Given the description of an element on the screen output the (x, y) to click on. 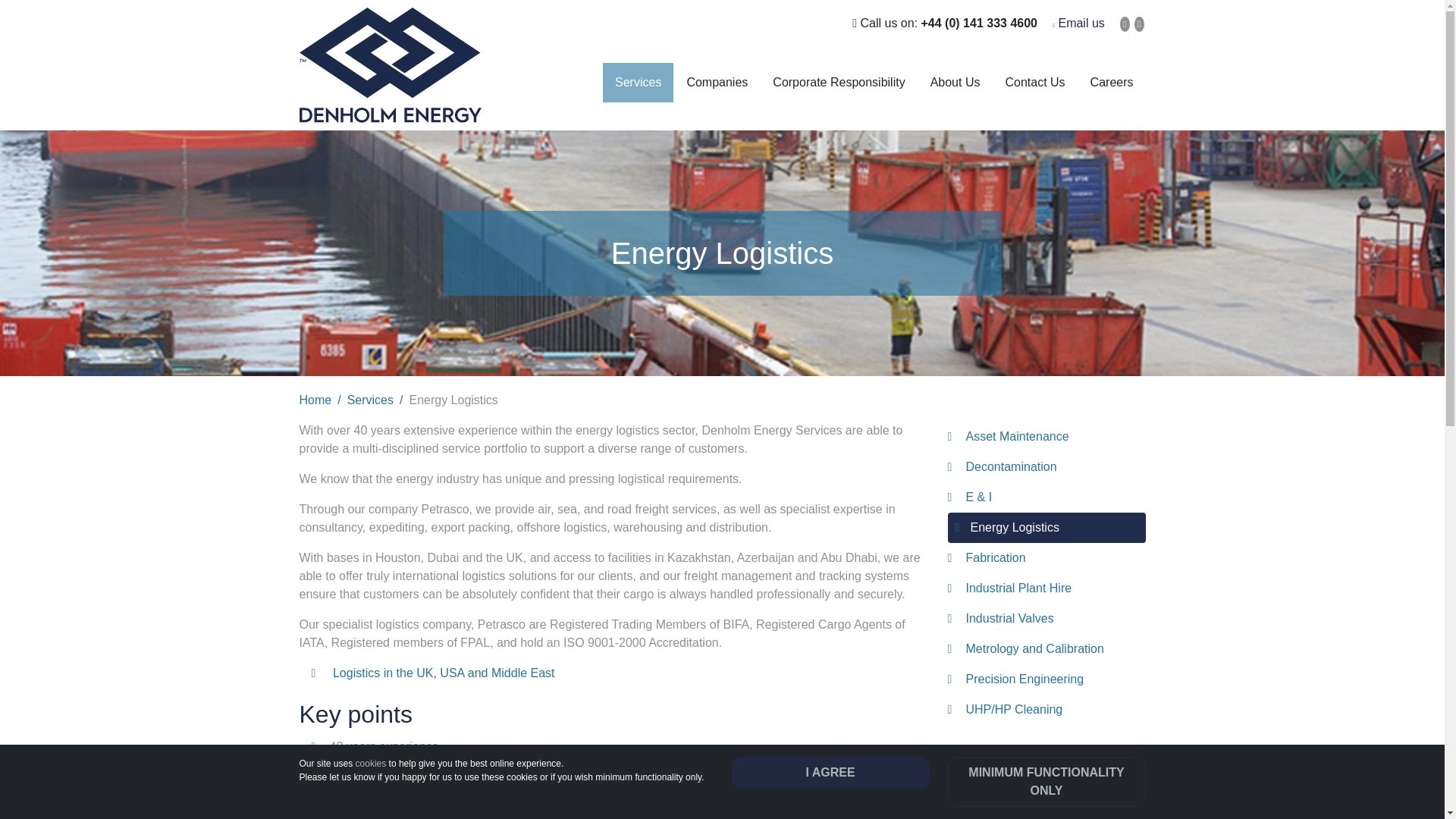
Corporate Responsibility (838, 82)
Cookie Policy (371, 763)
Denholm Energy (389, 64)
About Us (955, 82)
Companies (717, 82)
Petrasco (443, 672)
Email us (1080, 22)
Services (637, 82)
